Given the description of an element on the screen output the (x, y) to click on. 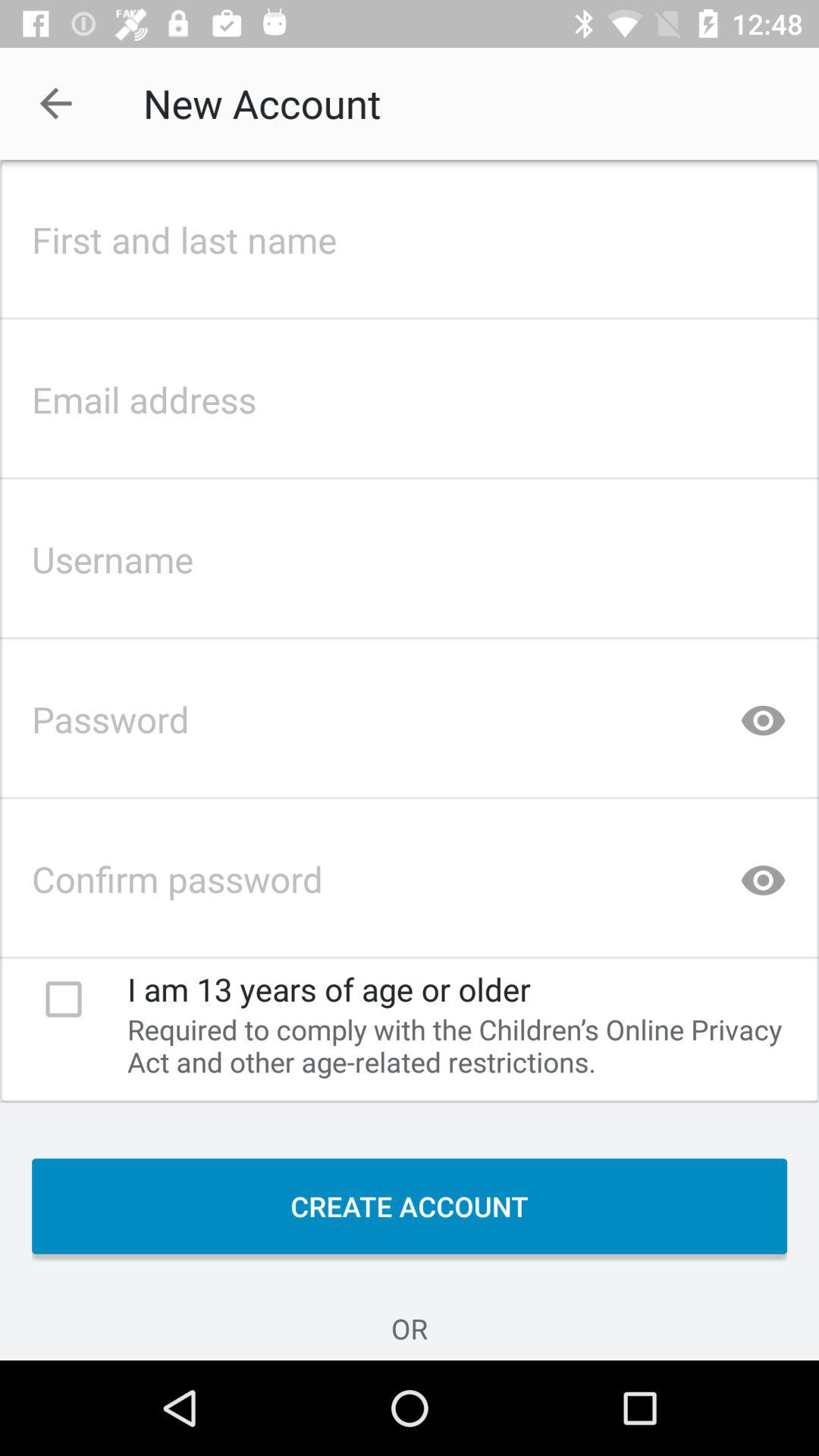
age consent checkbox (63, 999)
